Given the description of an element on the screen output the (x, y) to click on. 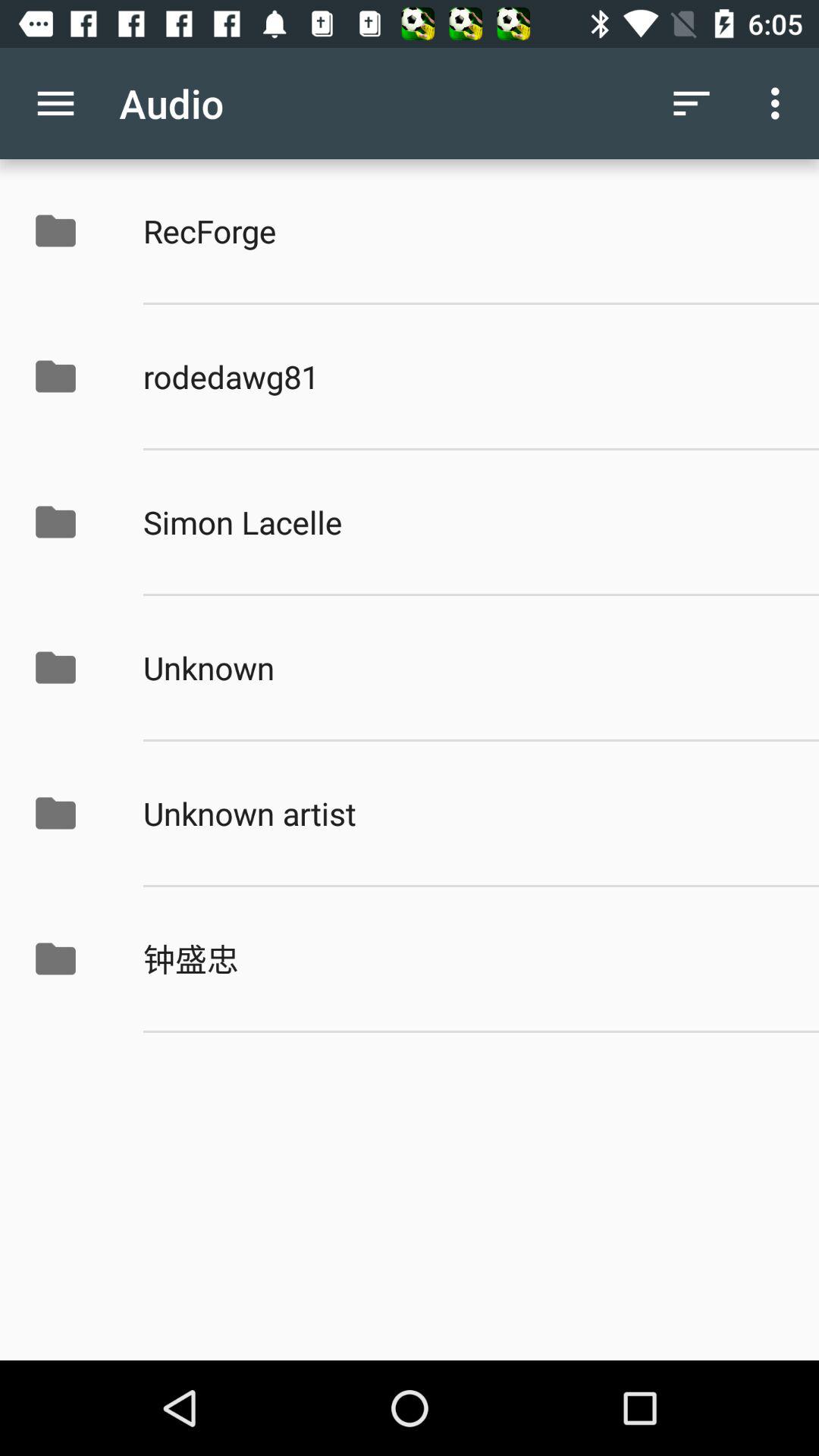
click app below the unknown artist app (465, 958)
